Given the description of an element on the screen output the (x, y) to click on. 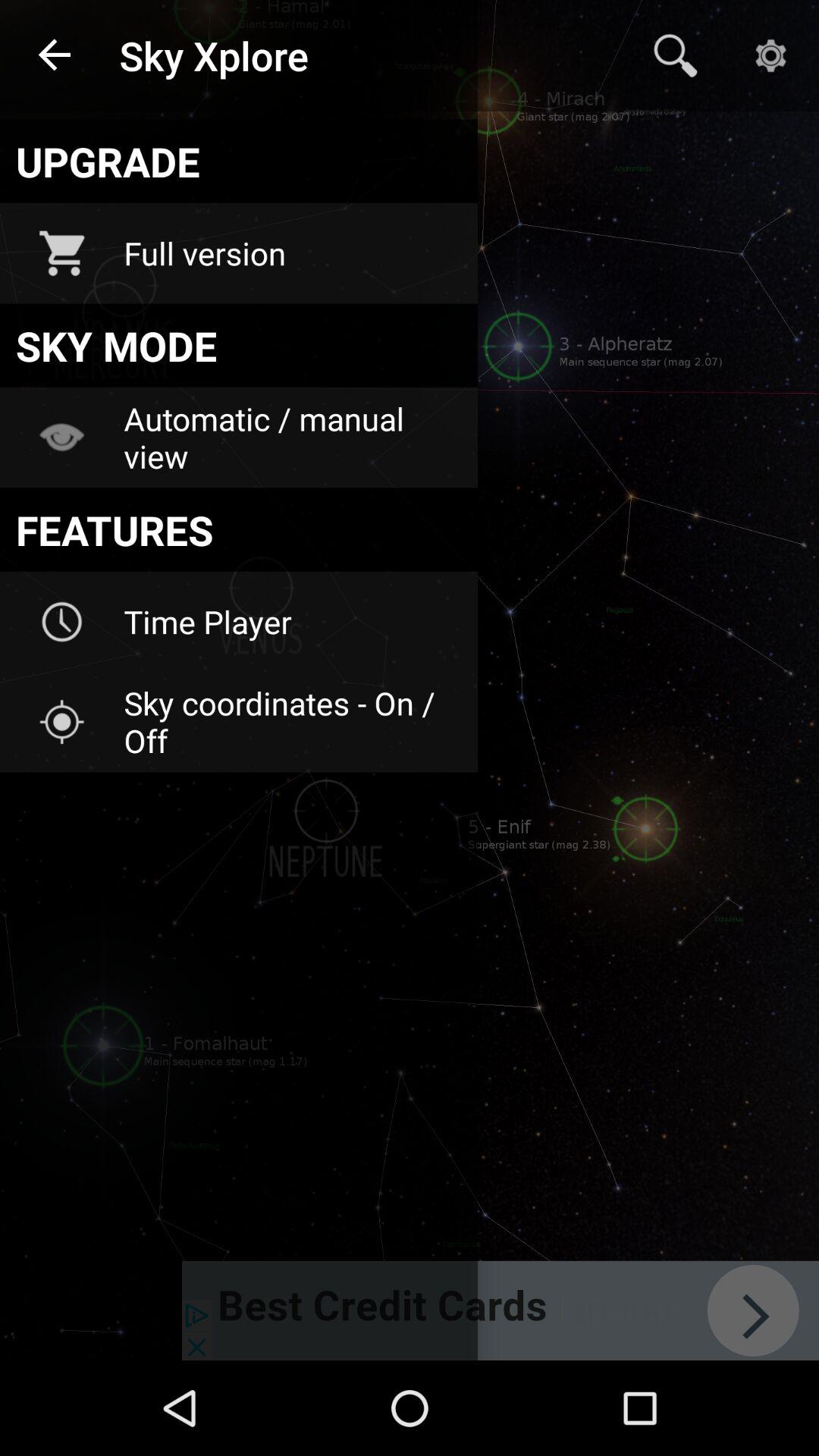
open upgrade item (238, 161)
